Given the description of an element on the screen output the (x, y) to click on. 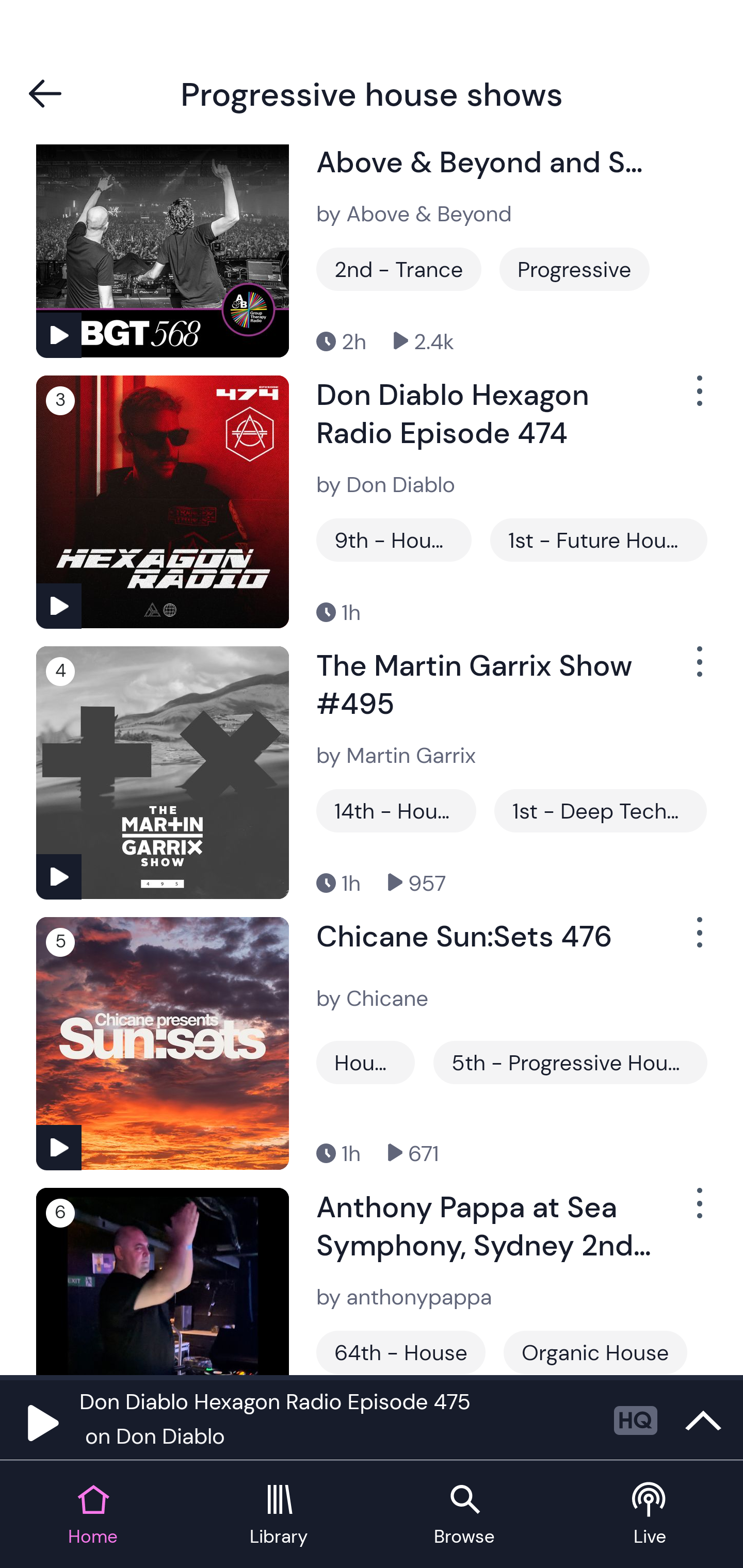
2nd - Trance (398, 269)
Progressive (574, 269)
Show Options Menu Button (697, 397)
9th - House (393, 540)
1st - Future House (598, 540)
Show Options Menu Button (697, 669)
14th - House (396, 810)
1st - Deep Techno (600, 810)
Show Options Menu Button (697, 940)
House (365, 1062)
5th - Progressive House (569, 1062)
Show Options Menu Button (697, 1211)
64th - House (400, 1352)
Organic House (595, 1352)
Home tab Home (92, 1515)
Library tab Library (278, 1515)
Browse tab Browse (464, 1515)
Live tab Live (650, 1515)
